Given the description of an element on the screen output the (x, y) to click on. 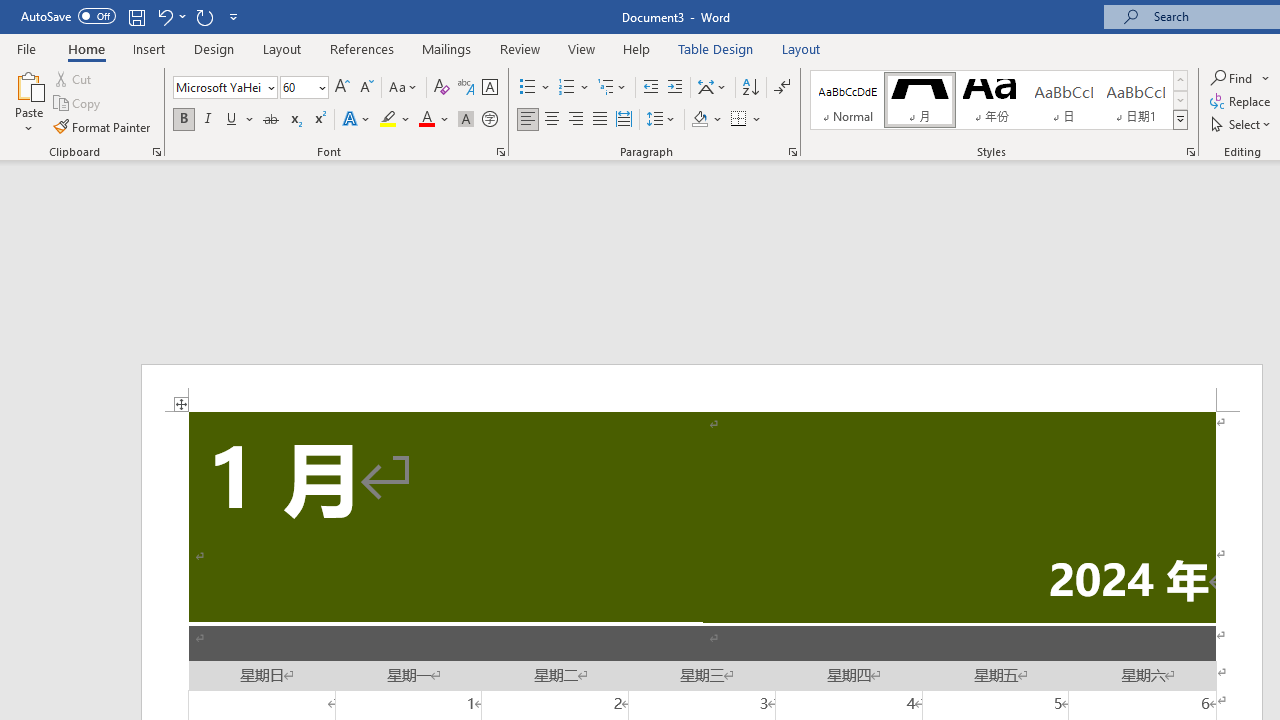
Character Border (489, 87)
Font Size (304, 87)
Bullets (535, 87)
File Tab (26, 48)
Undo Apply Quick Style (164, 15)
Line and Paragraph Spacing (661, 119)
Table Design (715, 48)
AutoSave (68, 16)
Italic (207, 119)
Row Down (1179, 100)
Shading (706, 119)
Superscript (319, 119)
Underline (239, 119)
System (10, 11)
